Given the description of an element on the screen output the (x, y) to click on. 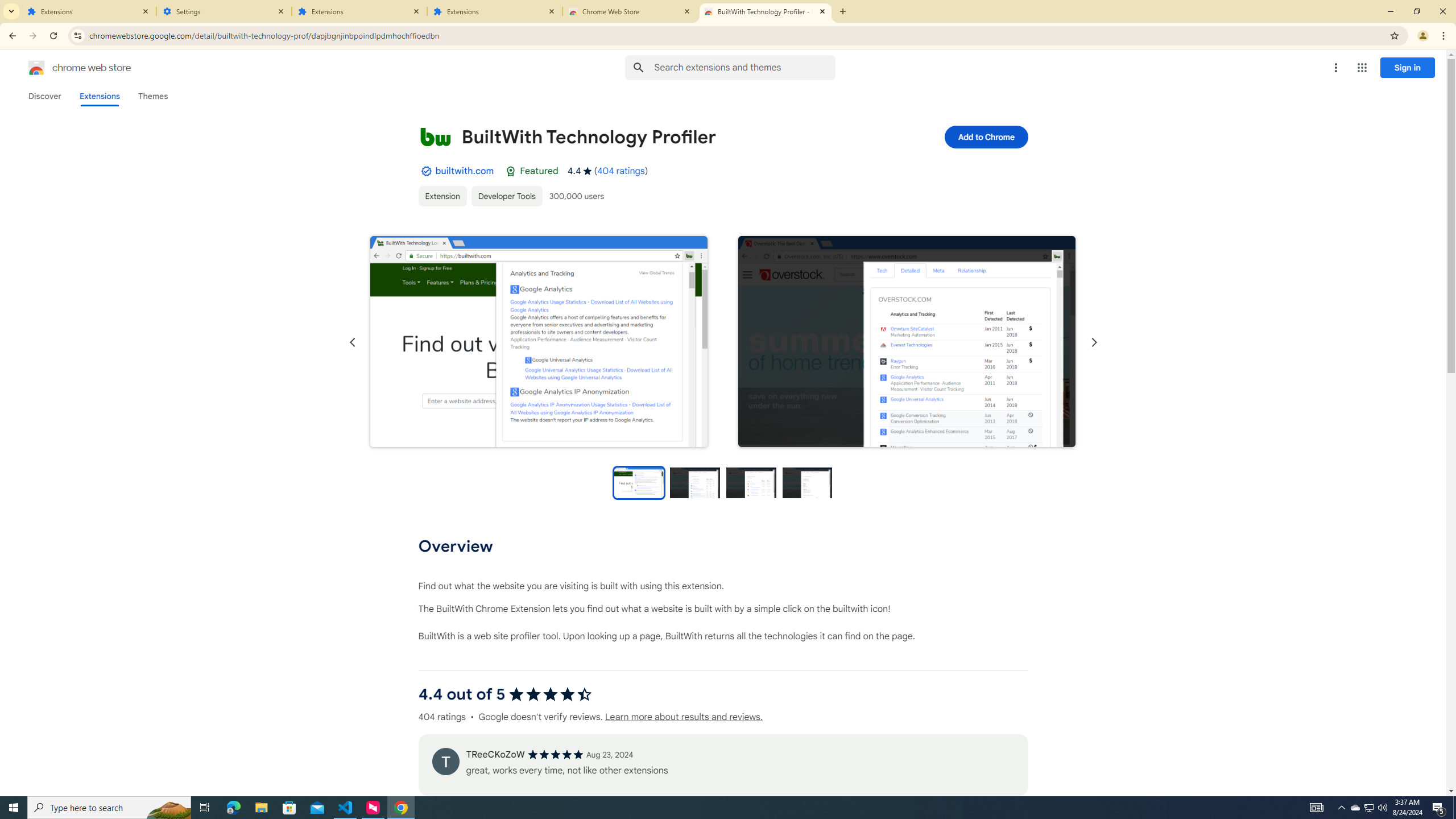
Item media 2 screenshot (906, 342)
Preview slide 2 (694, 482)
Discover (43, 95)
By Established Publisher Badge (425, 170)
Preview slide 4 (807, 482)
Learn more about results and reviews. (683, 716)
Chrome Web Store (630, 11)
Preview slide 1 (637, 482)
Themes (152, 95)
Extensions (359, 11)
BuiltWith Technology Profiler - Chrome Web Store (765, 11)
Extensions (88, 11)
builtwith.com (464, 170)
